Given the description of an element on the screen output the (x, y) to click on. 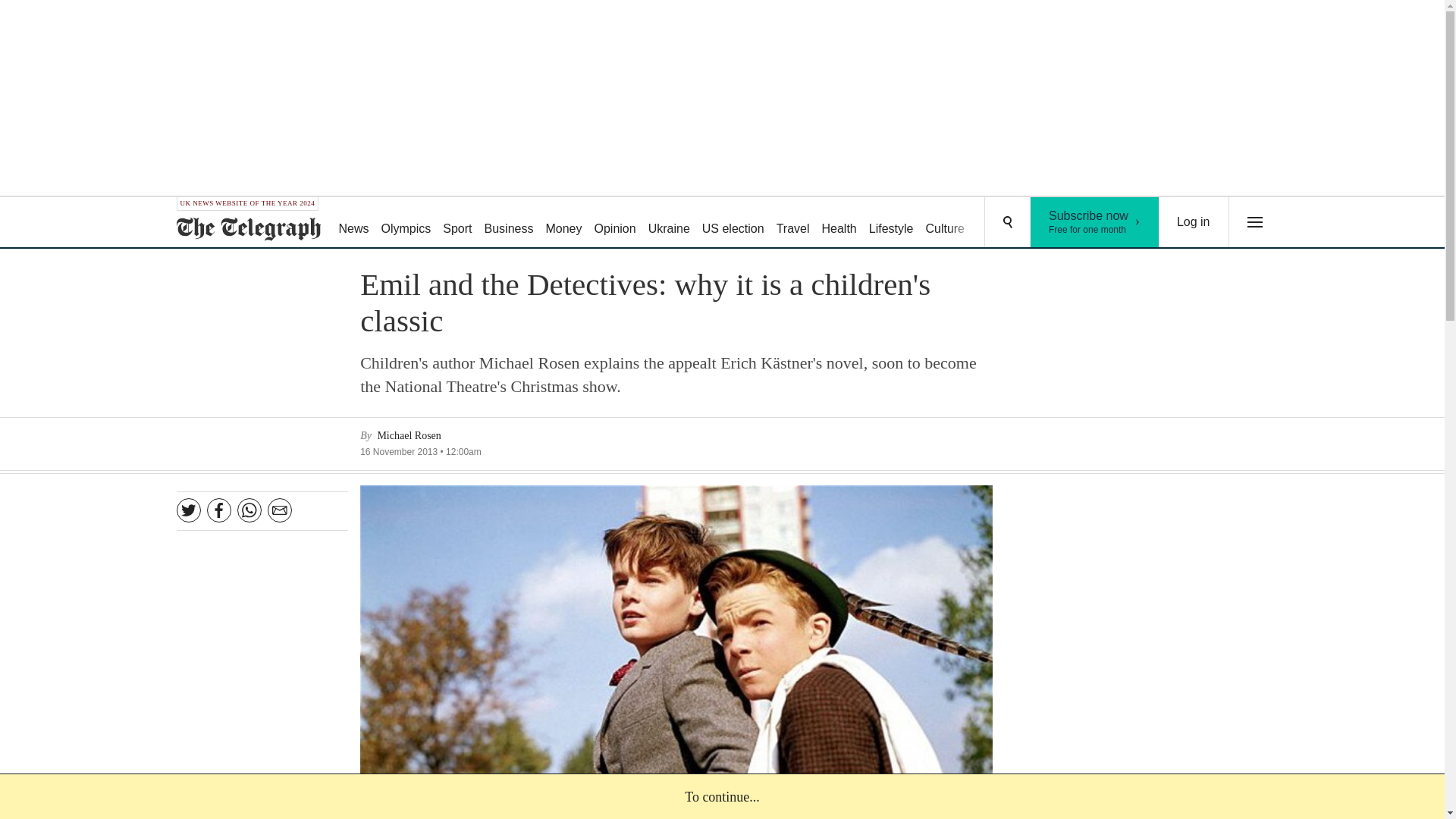
Ukraine (668, 223)
Log in (1193, 222)
Lifestyle (891, 223)
Podcasts (1056, 223)
Culture (944, 223)
Money (563, 223)
Olympics (406, 223)
Travel (792, 223)
Puzzles (998, 223)
Business (509, 223)
Health (838, 223)
Opinion (615, 223)
US election (1094, 222)
